Given the description of an element on the screen output the (x, y) to click on. 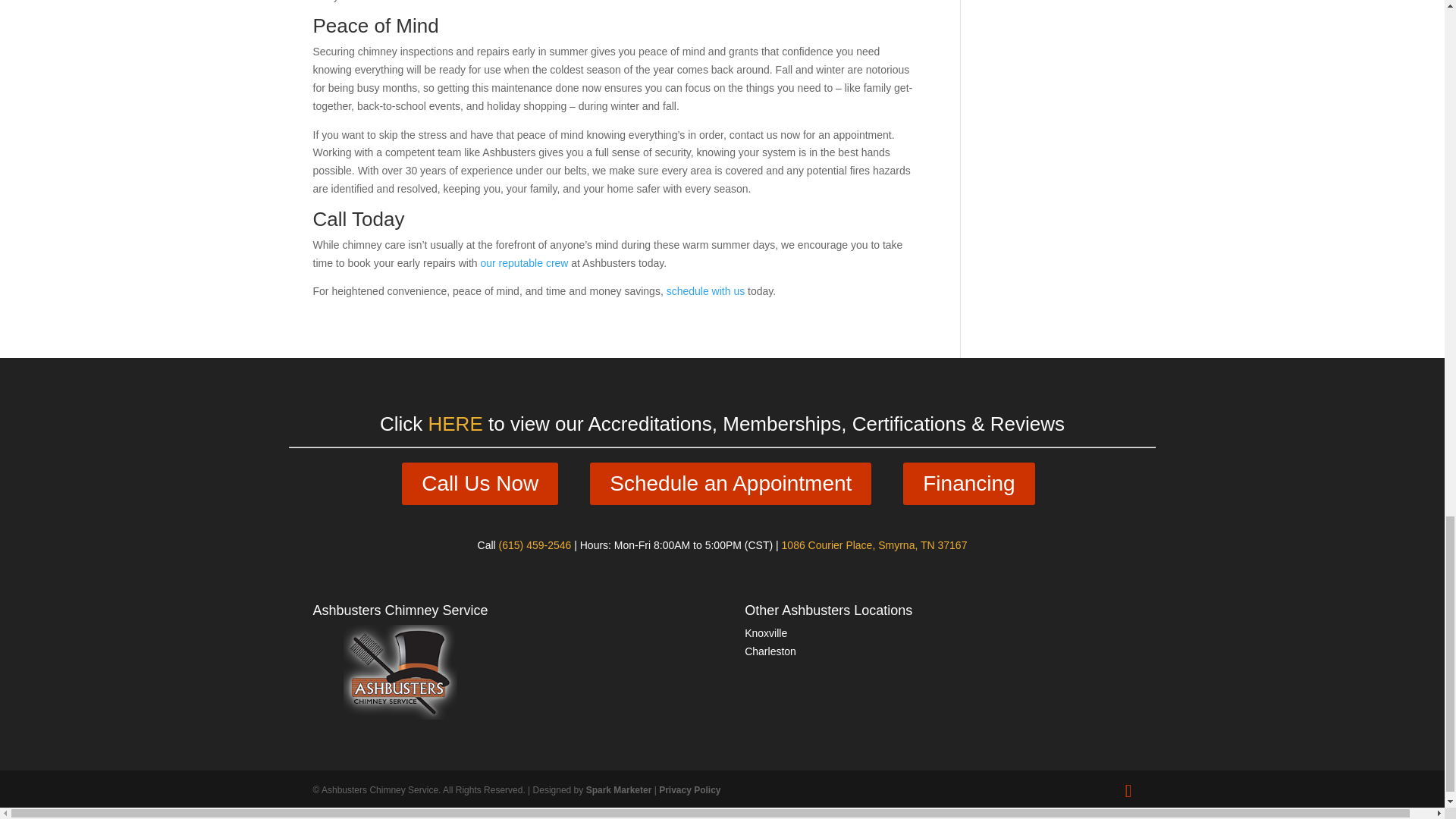
The systems and people to help local service businesses win. (619, 789)
Ashbusters Chimney (400, 715)
